Given the description of an element on the screen output the (x, y) to click on. 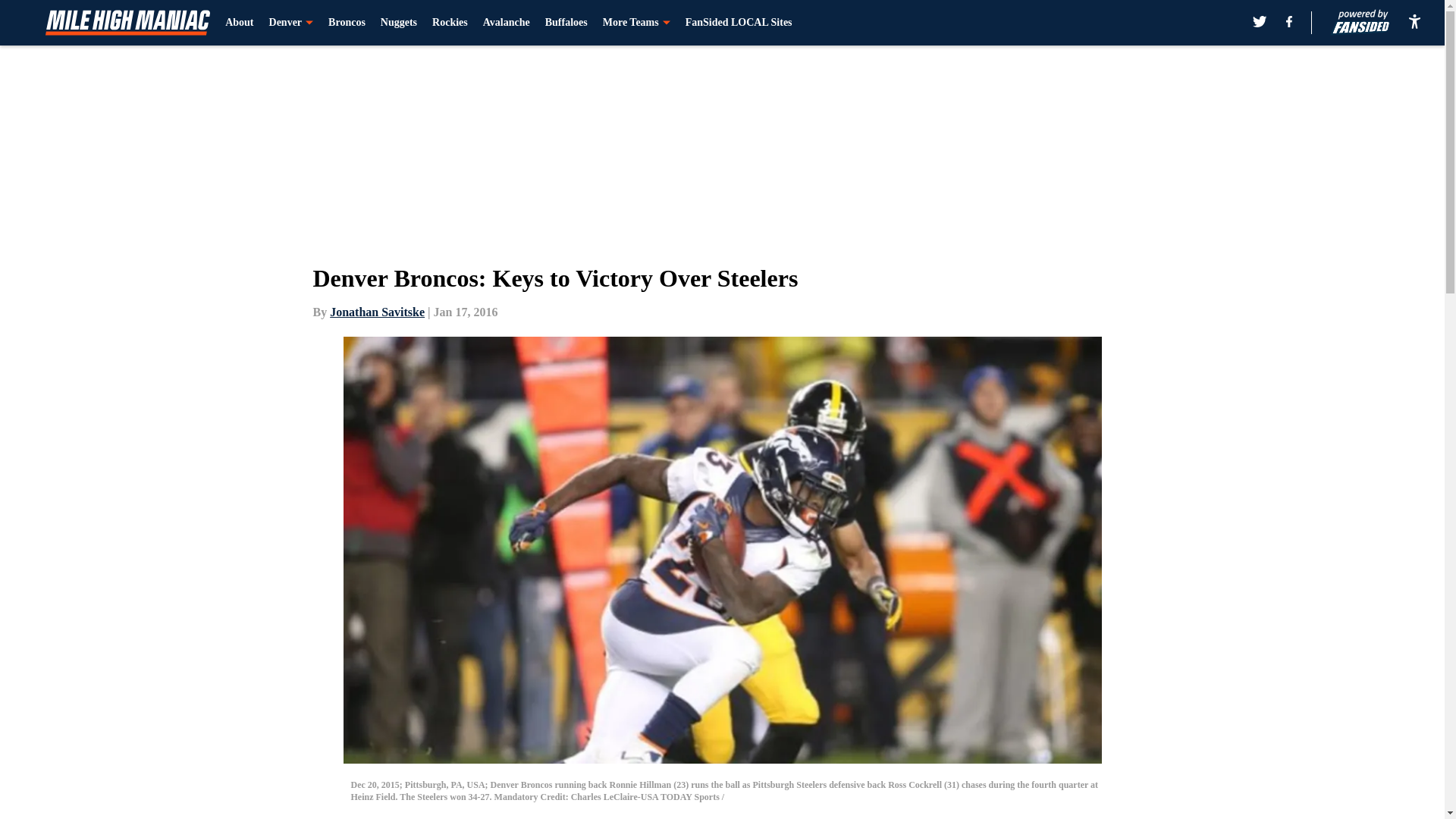
About (239, 22)
Broncos (347, 22)
Avalanche (506, 22)
Rockies (449, 22)
Nuggets (398, 22)
FanSided LOCAL Sites (738, 22)
Buffaloes (566, 22)
Jonathan Savitske (377, 311)
